Given the description of an element on the screen output the (x, y) to click on. 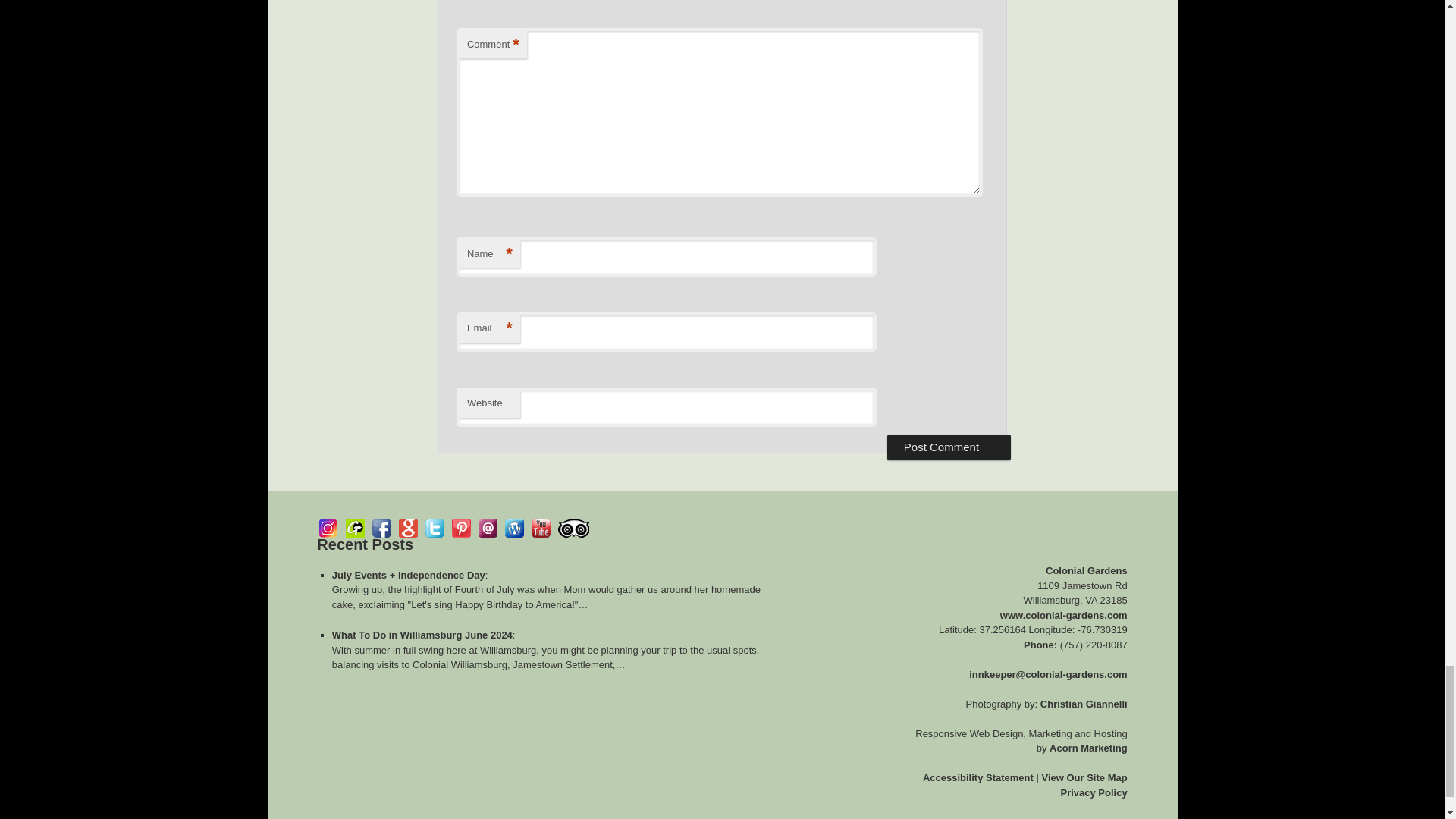
Contact Us (488, 527)
Read our Google reviews (407, 527)
View our YouTube Channel (540, 527)
Read our Blog (514, 527)
Follow us on Twitter (434, 527)
Pin us on Pinterest (460, 527)
Post Comment (948, 447)
Read Reviews on Tripadviser (573, 527)
